Given the description of an element on the screen output the (x, y) to click on. 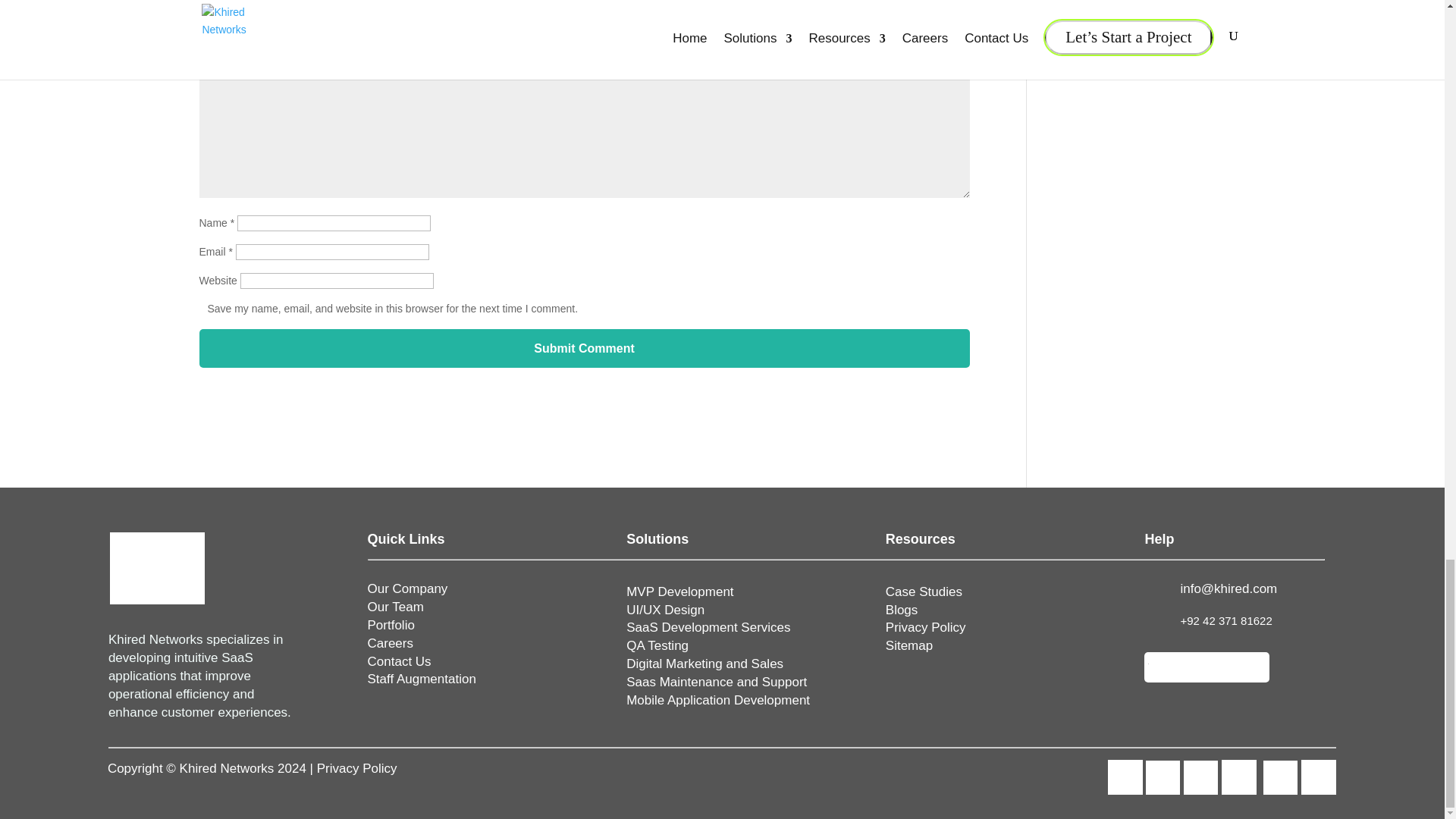
Khired-white (157, 568)
MVP Development (679, 591)
Submit Comment (583, 348)
Our Company (408, 588)
SaaS Development Services (708, 626)
Careers (390, 643)
Staff Augmentation (422, 678)
QA Testing (657, 645)
Our Team (395, 606)
Portfolio (391, 625)
Submit Comment (583, 348)
Contact Us (399, 661)
